Given the description of an element on the screen output the (x, y) to click on. 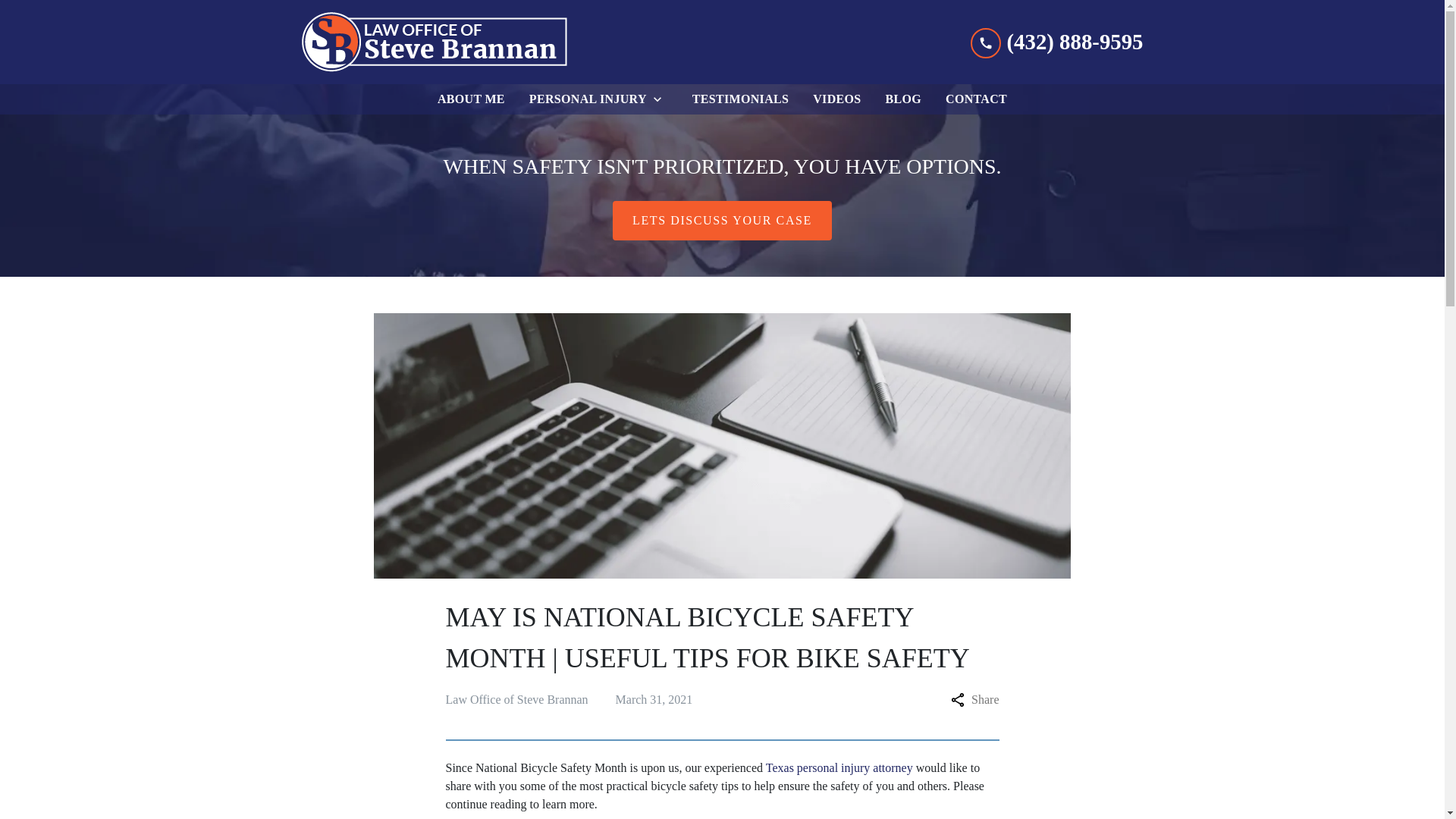
LETS DISCUSS YOUR CASE (721, 220)
CONTACT (976, 99)
Share (974, 700)
PERSONAL INJURY (584, 99)
BLOG (903, 99)
TESTIMONIALS (739, 99)
ABOUT ME (470, 99)
Texas personal injury attorney (838, 767)
VIDEOS (836, 99)
